Given the description of an element on the screen output the (x, y) to click on. 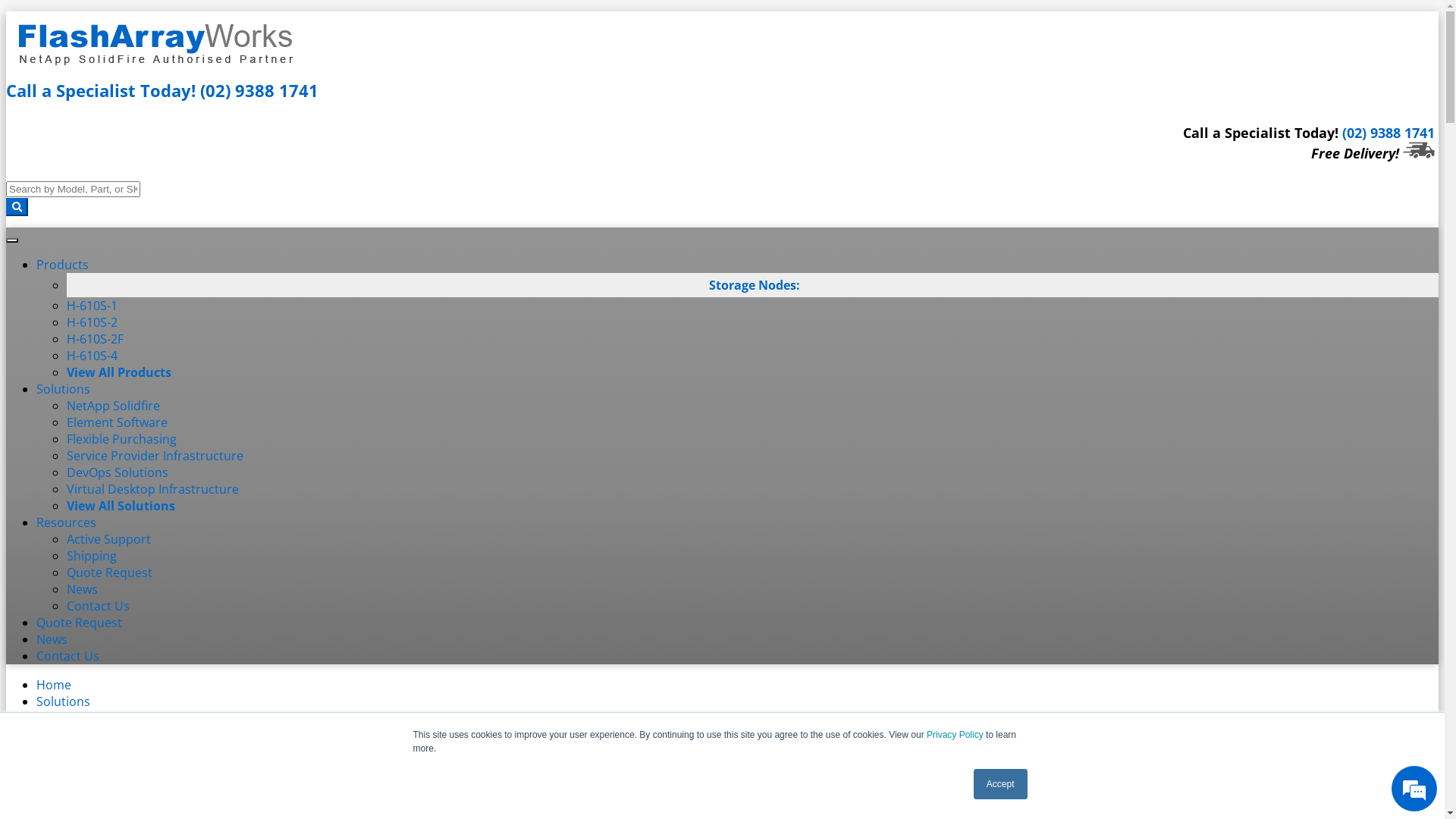
Shipping Element type: text (91, 555)
News Element type: text (51, 638)
View All Products Element type: text (118, 372)
H-610S-2F Element type: text (94, 338)
Home Element type: text (53, 684)
Storage Nodes: Element type: text (754, 284)
Solutions Element type: text (63, 388)
Contact Us Element type: text (97, 605)
H-610S-1 Element type: text (91, 305)
Toggle navigation Element type: text (12, 240)
Quote Request Element type: text (109, 572)
Flexible Purchasing Element type: text (121, 438)
NetApp Solidfire Element type: text (113, 405)
Accept Element type: text (1000, 783)
H-610S-4 Element type: text (91, 355)
H-610S-2 Element type: text (91, 321)
Quote Request Element type: text (79, 622)
Virtual Desktop Infrastructure Element type: text (152, 488)
Products Element type: text (62, 264)
(02) 9388 1741 Element type: text (1388, 132)
Element Software Element type: text (116, 422)
Contact Us Element type: text (67, 655)
(02) 9388 1741 Element type: text (259, 89)
Solutions Element type: text (63, 701)
News Element type: text (81, 588)
Resources Element type: text (66, 522)
Privacy Policy Element type: text (954, 734)
Active Support Element type: text (108, 538)
DevOps Solutions Element type: text (117, 472)
Service Provider Infrastructure Element type: text (154, 455)
View All Solutions Element type: text (120, 505)
